Given the description of an element on the screen output the (x, y) to click on. 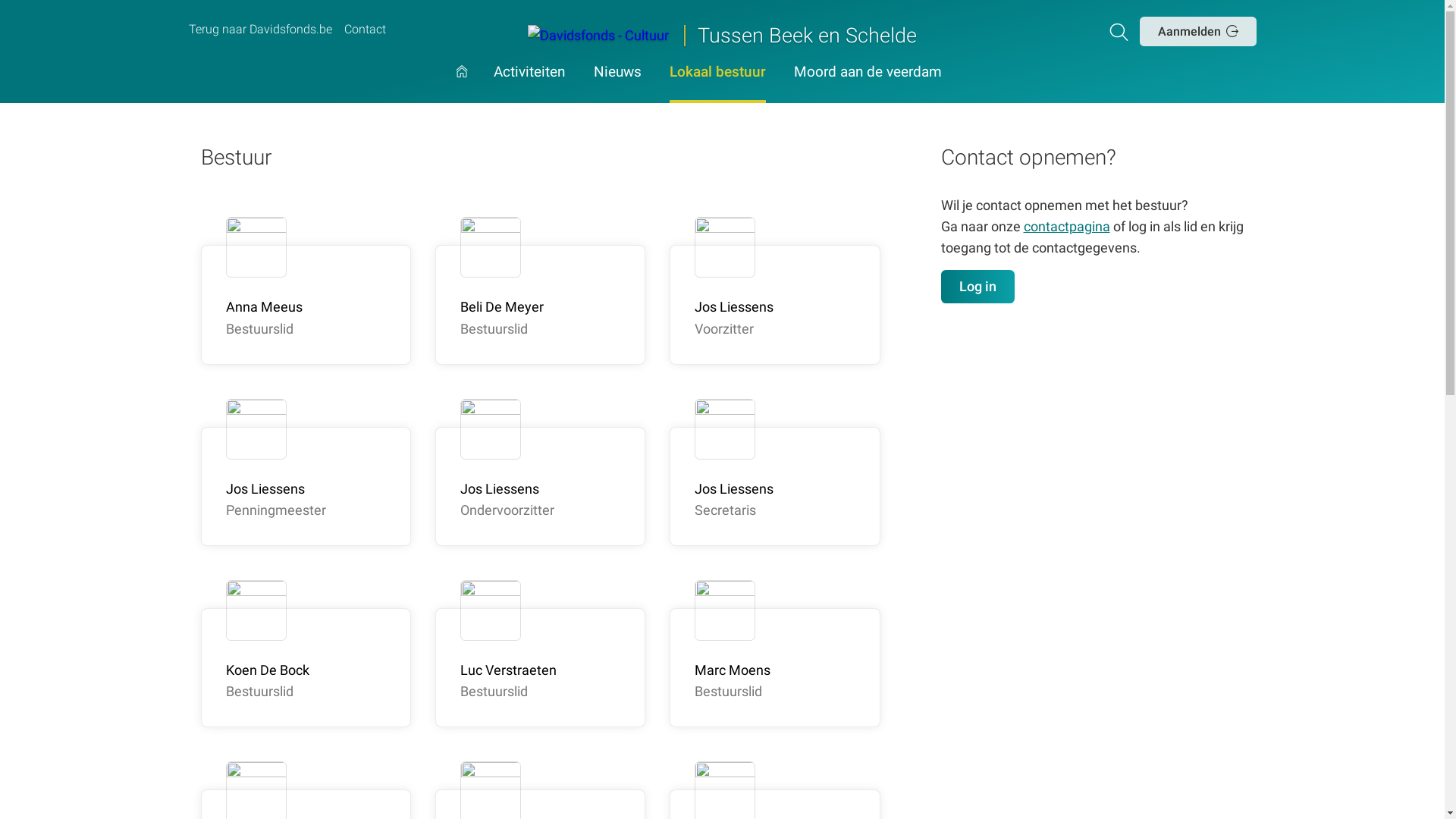
Hoofdpagina Element type: text (461, 84)
Lokaal bestuur Element type: text (717, 84)
Activiteiten Element type: text (528, 84)
Contact Element type: text (364, 30)
Log in Element type: text (977, 286)
contactpagina Element type: text (1066, 226)
Terug naar Davidsfonds.be Element type: text (259, 30)
Tussen Beek en Schelde Element type: text (721, 33)
Nieuws Element type: text (617, 84)
Aanmelden Element type: text (1197, 30)
Zoeken Element type: text (1121, 31)
Moord aan de veerdam Element type: text (867, 84)
